Given the description of an element on the screen output the (x, y) to click on. 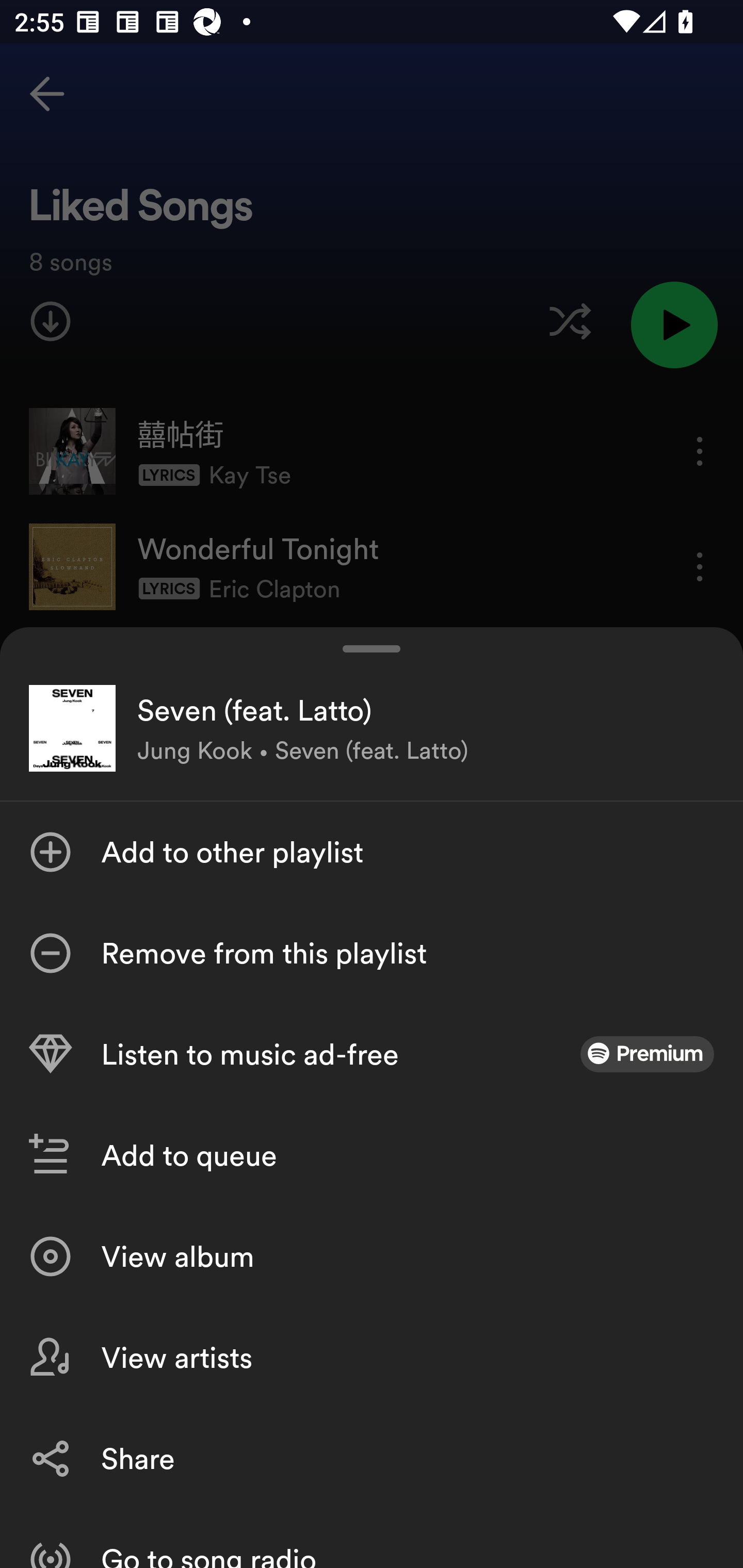
Add to other playlist (371, 852)
Remove from this playlist (371, 953)
Listen to music ad-free (371, 1054)
Add to queue (371, 1155)
View album (371, 1256)
View artists (371, 1357)
Share (371, 1458)
Go to song radio (371, 1538)
